Given the description of an element on the screen output the (x, y) to click on. 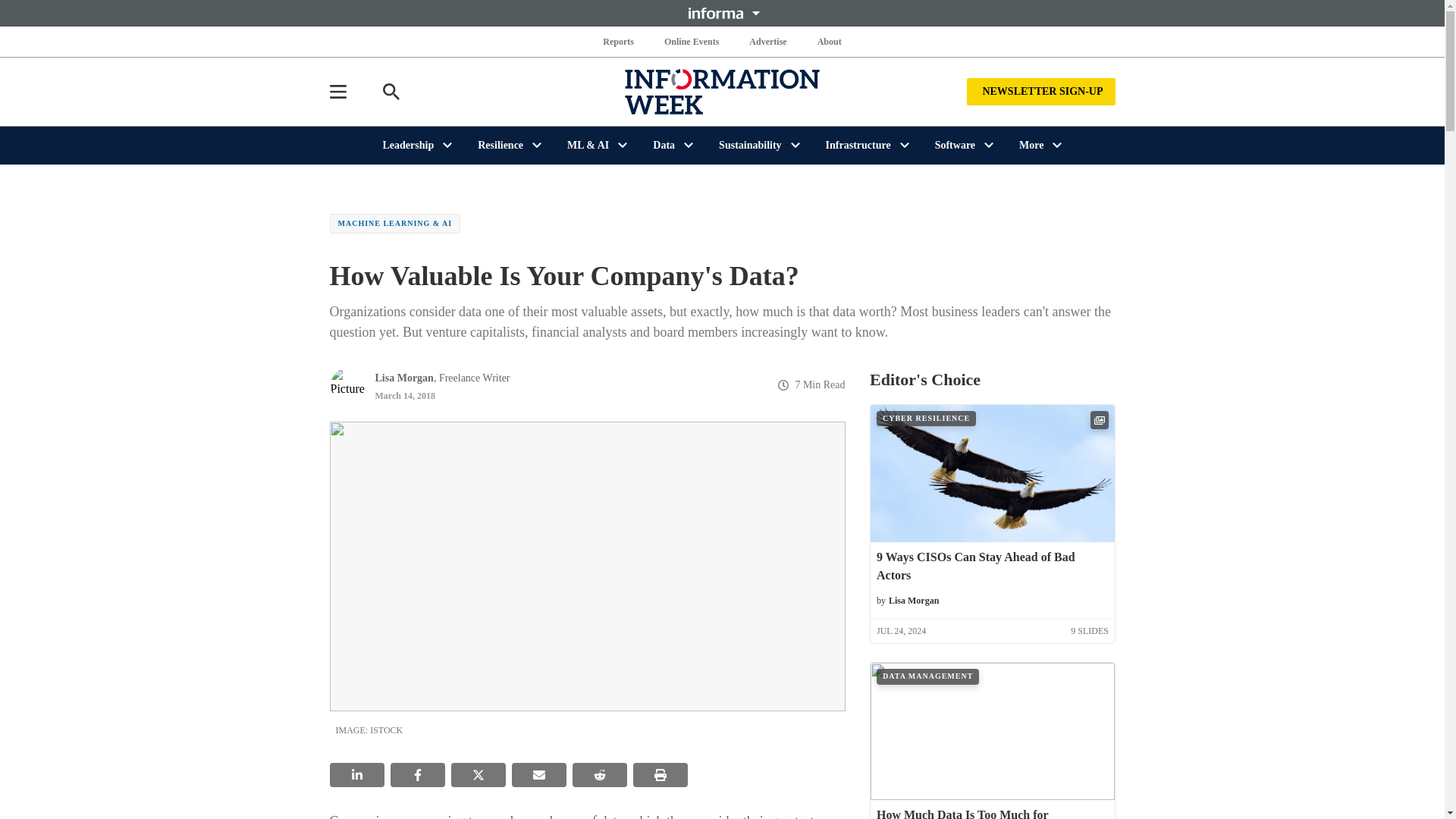
About (828, 41)
Advertise (767, 41)
InformationWeek (722, 91)
NEWSLETTER SIGN-UP (1040, 90)
Online Events (691, 41)
Reports (618, 41)
